Given the description of an element on the screen output the (x, y) to click on. 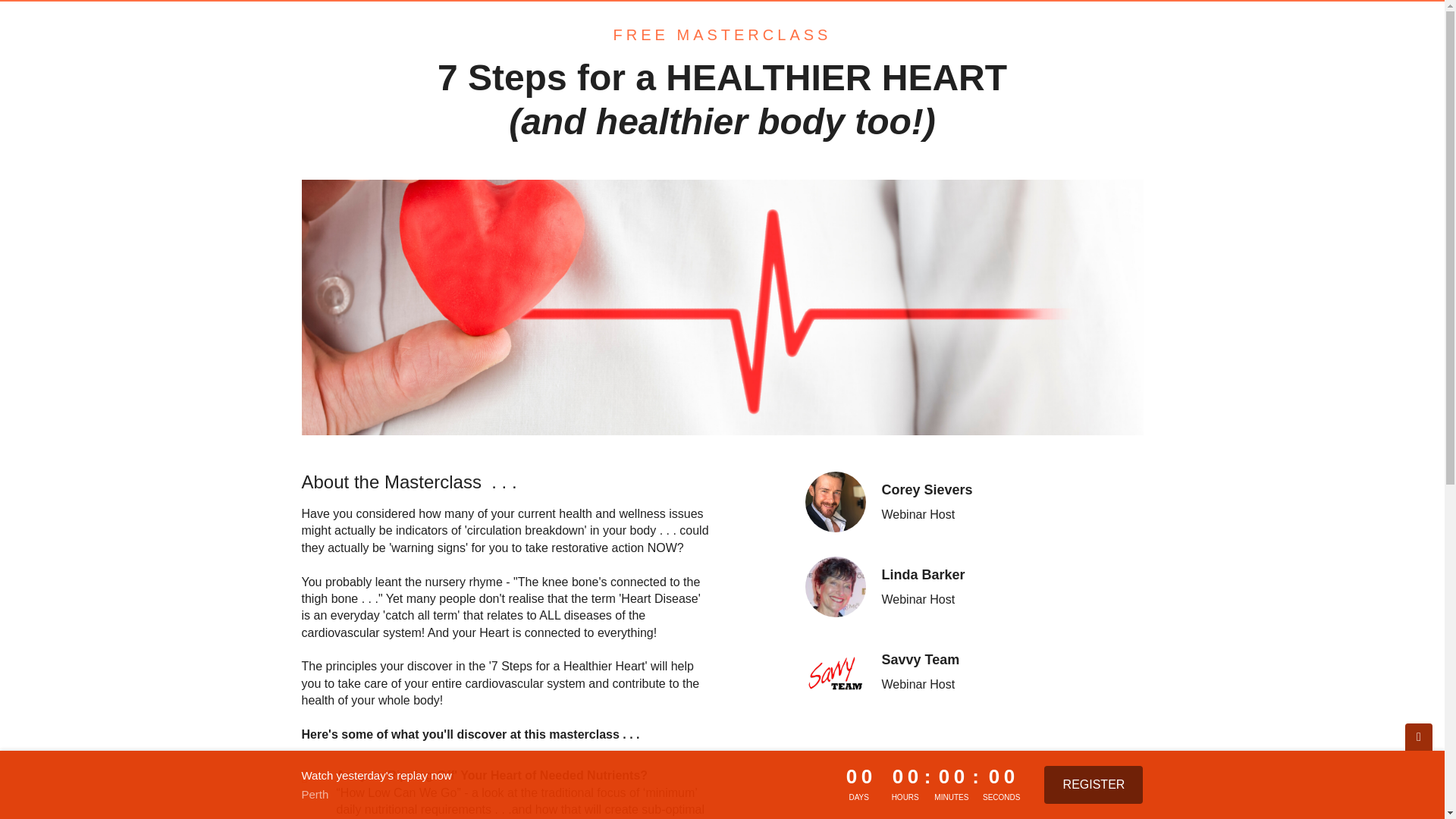
Savvy Team (835, 671)
Corey Sievers (835, 501)
REGISTER (1092, 784)
Linda Barker (835, 586)
